Given the description of an element on the screen output the (x, y) to click on. 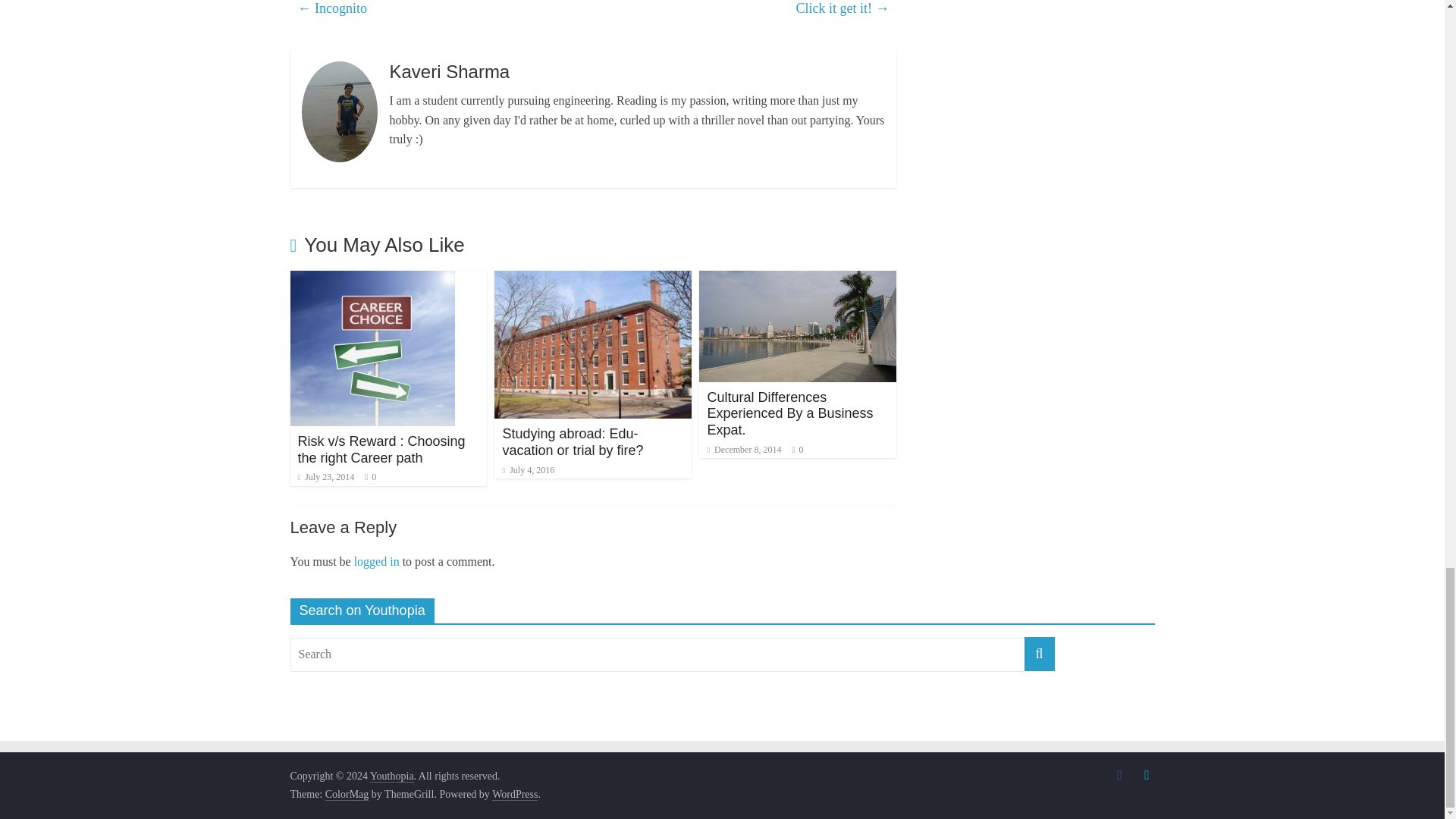
Studying abroad: Edu-vacation or trial by fire? (572, 441)
5:29 pm (528, 470)
Studying abroad: Edu-vacation or trial by fire? (593, 279)
4:32 pm (325, 476)
